Given the description of an element on the screen output the (x, y) to click on. 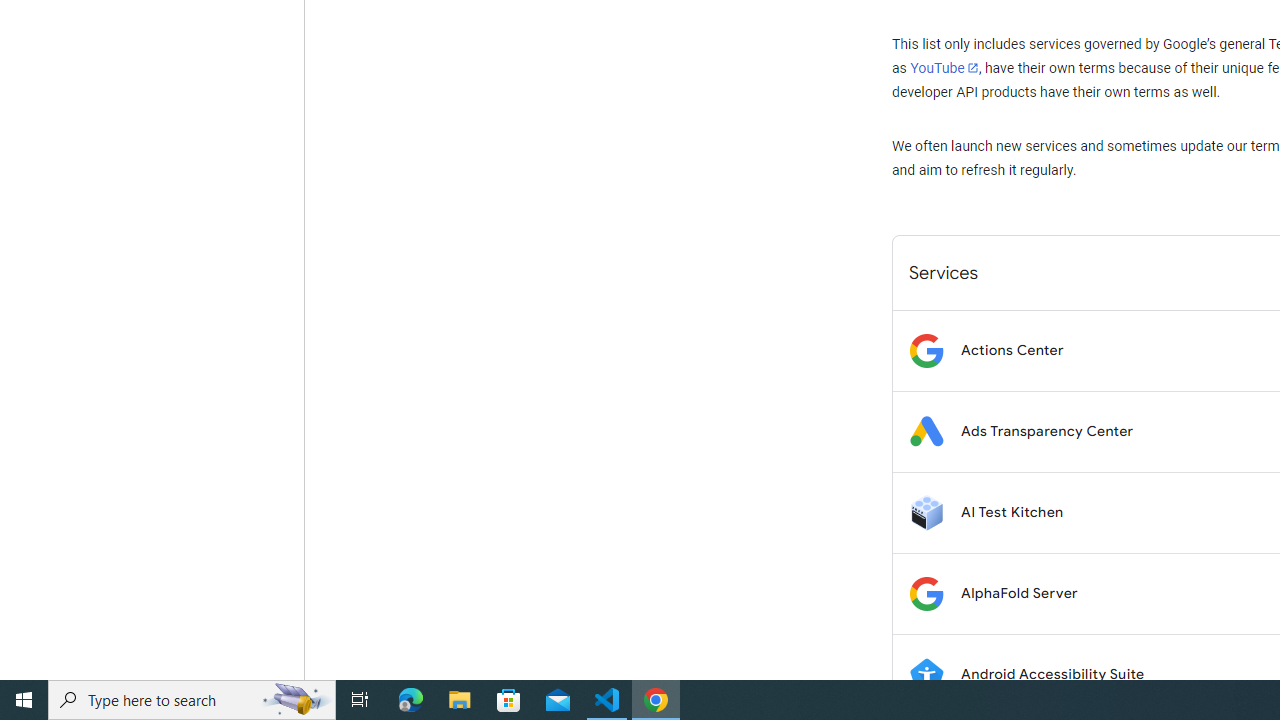
Logo for Actions Center (926, 349)
Logo for AI Test Kitchen (926, 512)
YouTube (944, 68)
Logo for Android Accessibility Suite (926, 673)
Logo for AlphaFold Server (926, 593)
Logo for Ads Transparency Center (926, 431)
